Given the description of an element on the screen output the (x, y) to click on. 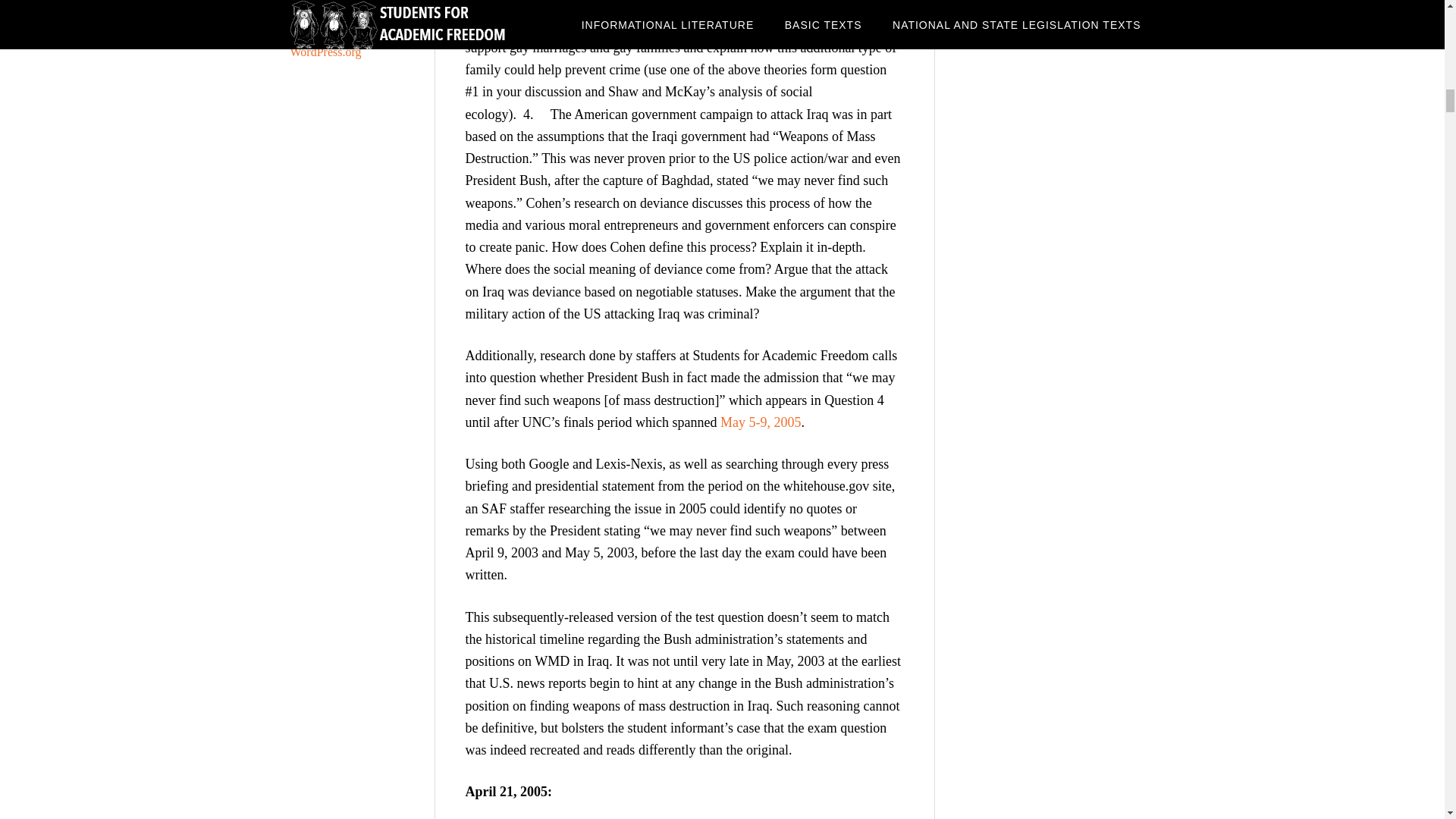
May 5-9, 2005 (761, 421)
